Given the description of an element on the screen output the (x, y) to click on. 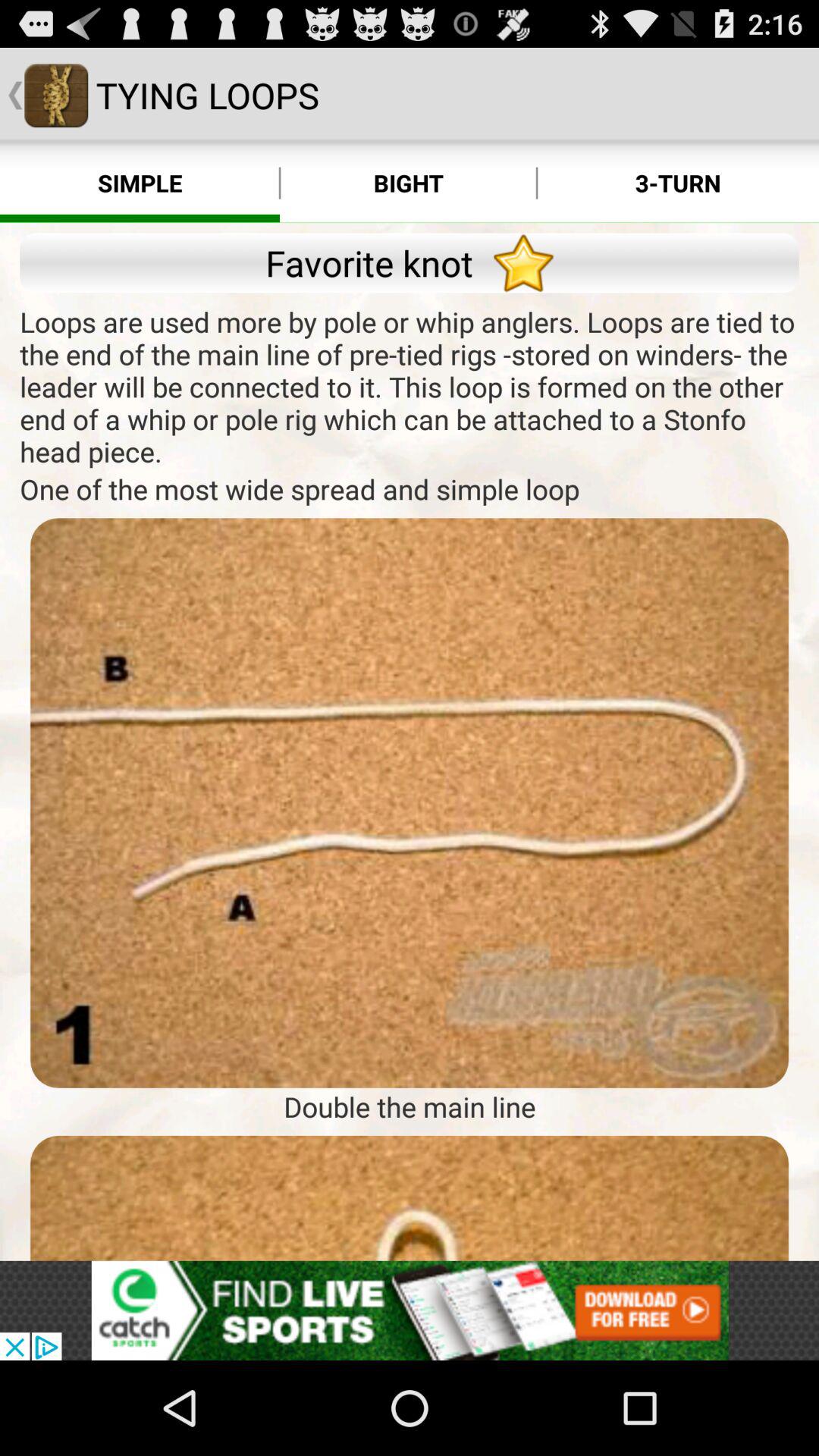
advertisement (409, 1197)
